Given the description of an element on the screen output the (x, y) to click on. 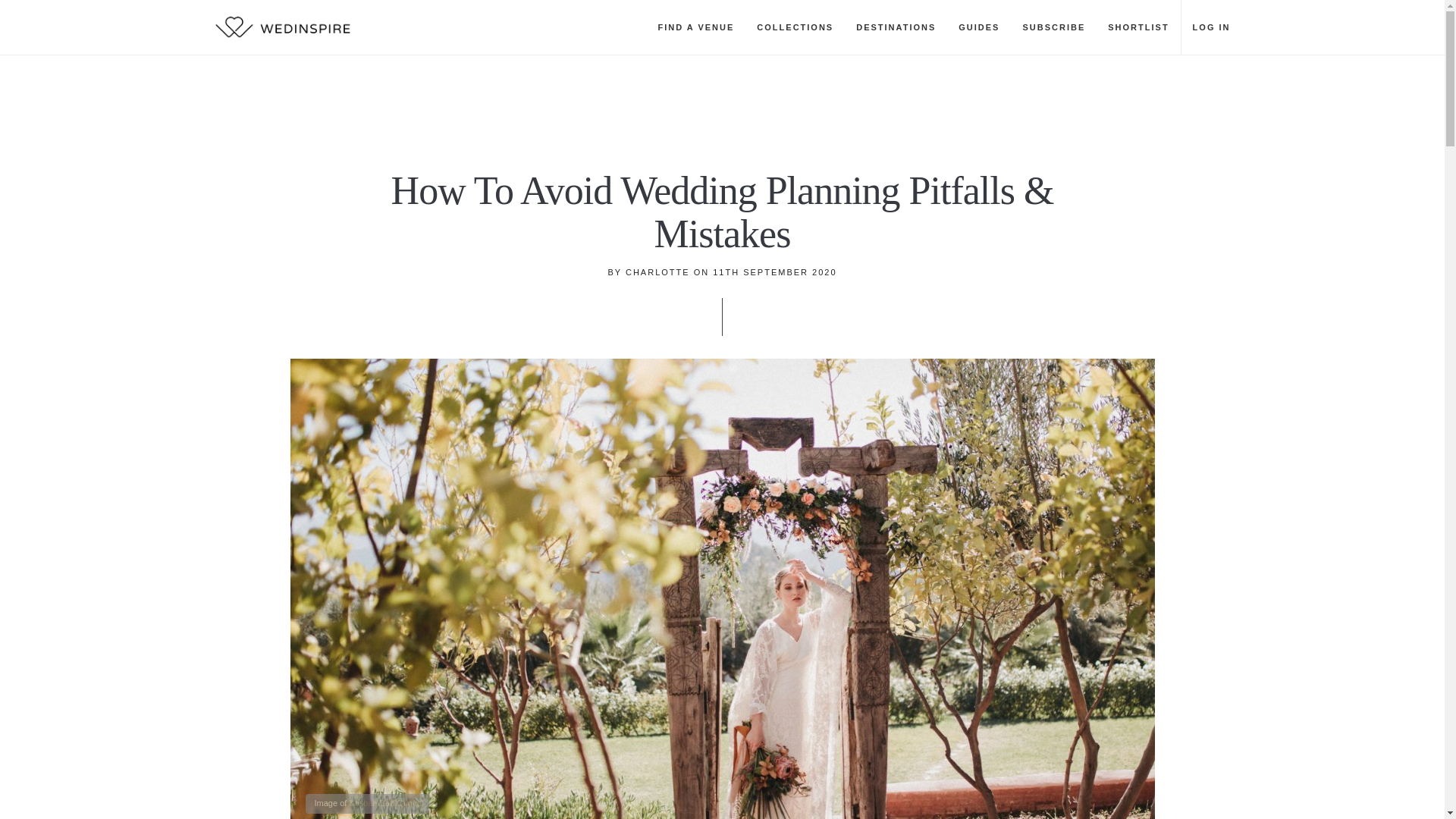
Kasbah Bab Ourika (384, 802)
COLLECTIONS (794, 27)
GUIDES (978, 27)
SUBSCRIBE (1053, 27)
FIND A VENUE (695, 27)
DESTINATIONS (895, 27)
LOG IN (1210, 27)
SHORTLIST (1137, 27)
